Given the description of an element on the screen output the (x, y) to click on. 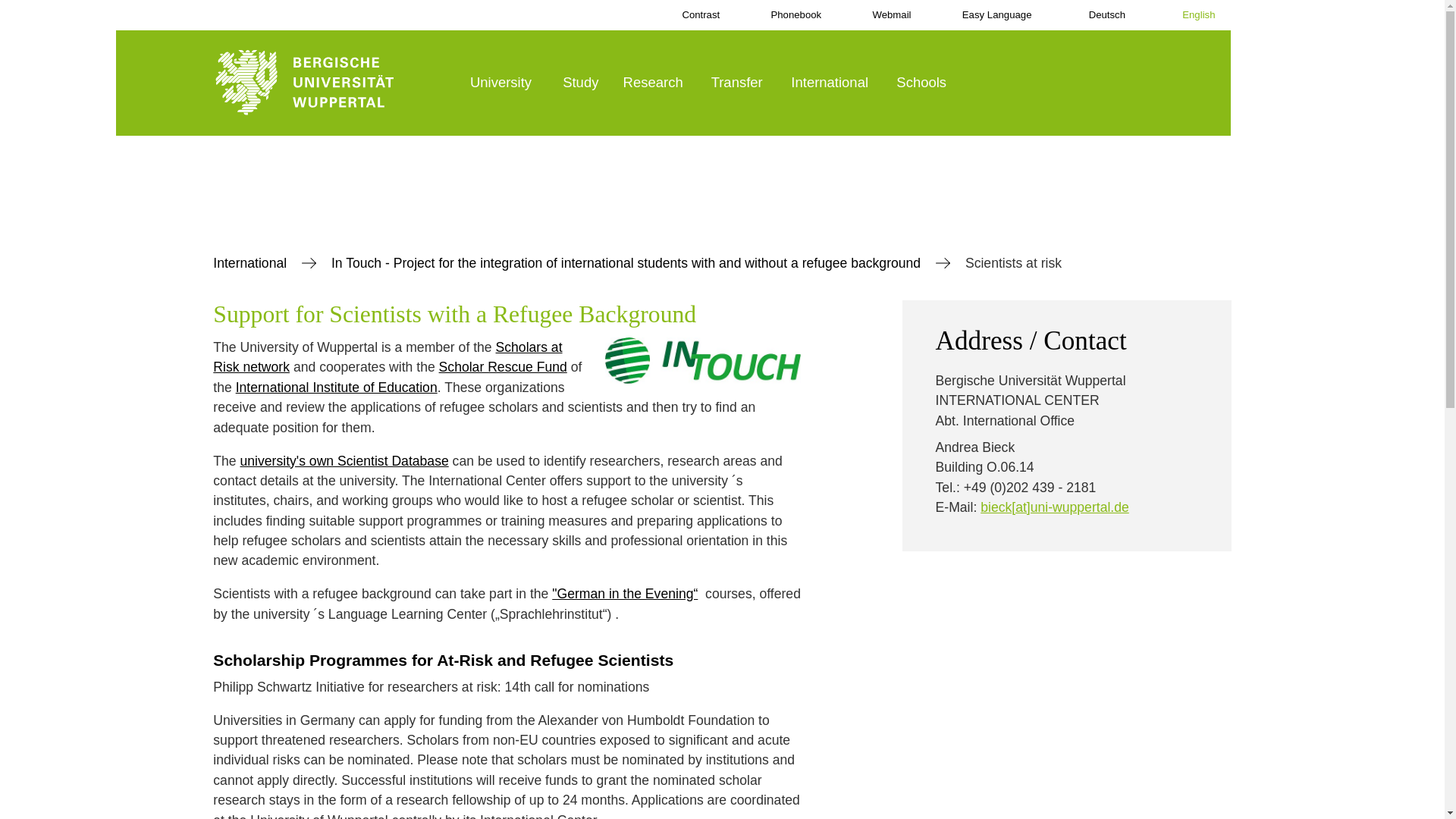
Research (657, 83)
Study (582, 83)
Easy Language (987, 15)
Deutsch (1093, 15)
Phonebook (785, 15)
University (506, 83)
Contrast (690, 15)
Deutsch (1093, 15)
Webmail (881, 15)
go to front page (334, 82)
